Given the description of an element on the screen output the (x, y) to click on. 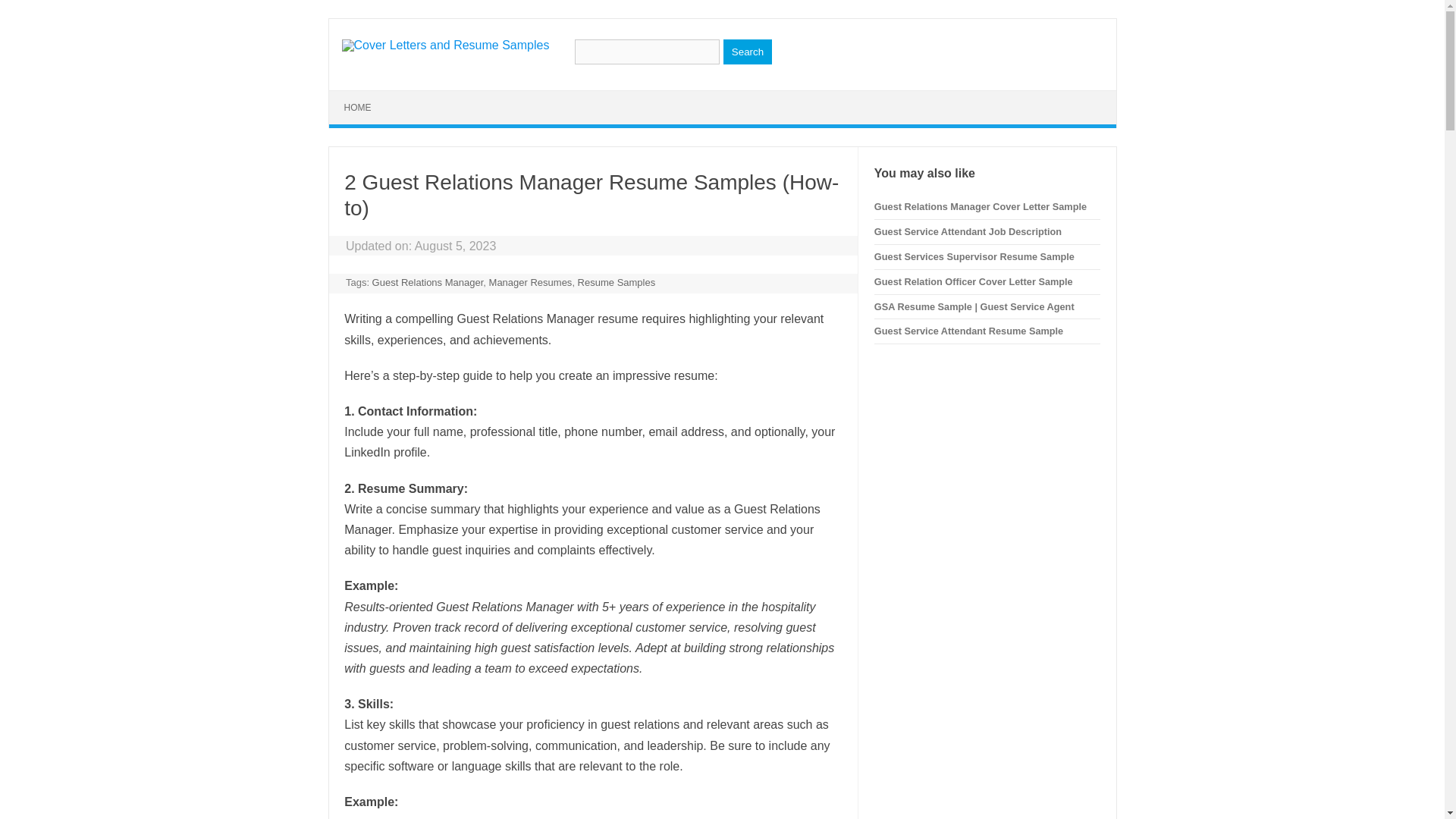
Guest Service Attendant Resume Sample (968, 330)
Guest Service Attendant Job Description (968, 231)
Guest Relations Manager Cover Letter Sample (980, 206)
Resume Samples (617, 282)
Guest Relations Manager (427, 282)
Guest Relation Officer Cover Letter Sample (974, 281)
Guest Services Supervisor Resume Sample (974, 256)
Search (747, 51)
Cover Letters and Resume Samples (444, 44)
HOME (358, 107)
Search (747, 51)
Manager Resumes (530, 282)
